Given the description of an element on the screen output the (x, y) to click on. 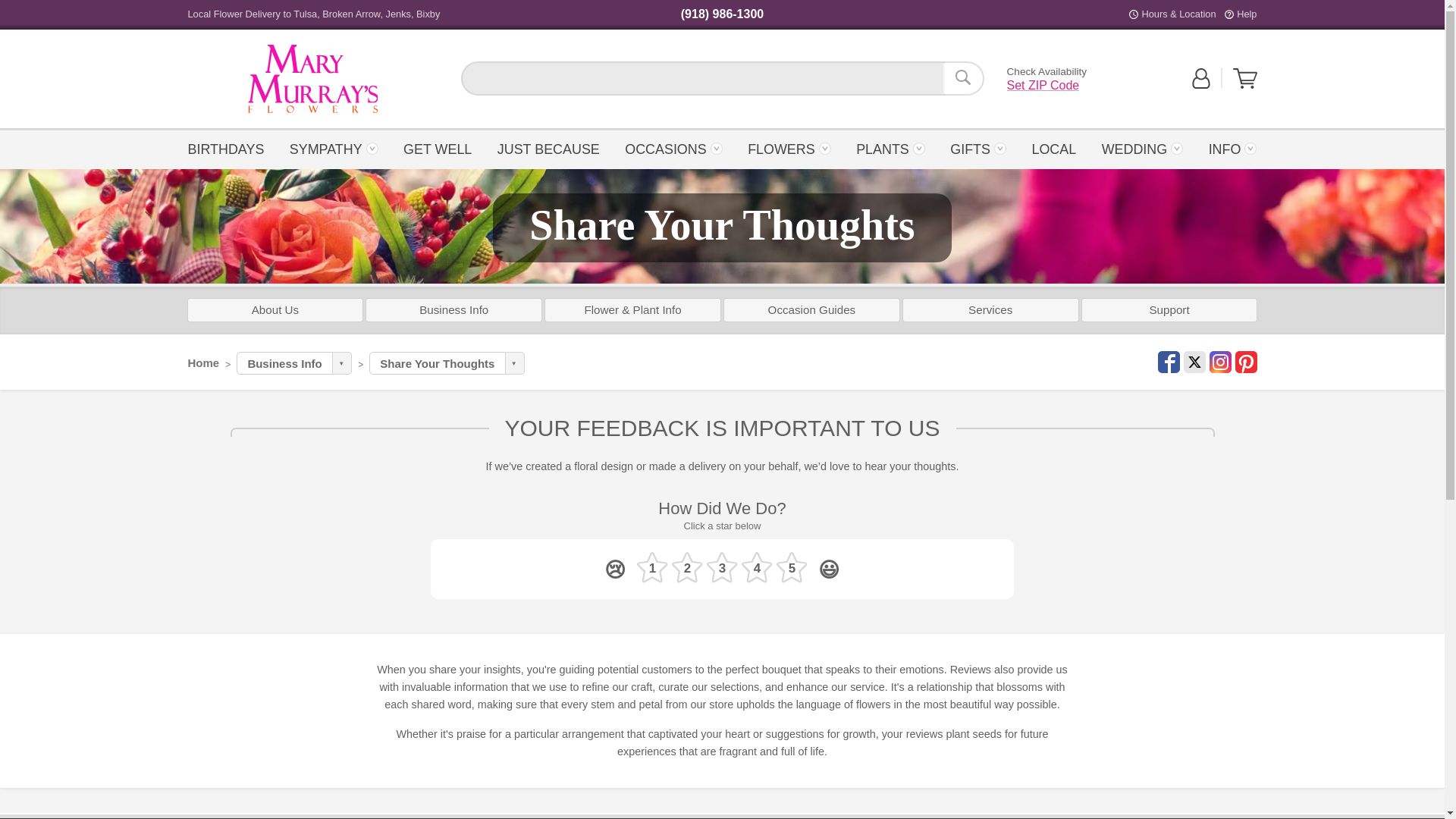
View Your Shopping Cart (1245, 85)
JUST BECAUSE (548, 147)
Set ZIP Code (1043, 85)
Help (1246, 13)
OCCASIONS (672, 147)
SYMPATHY (334, 147)
Back to the Home Page (312, 79)
View Your Shopping Cart (1245, 78)
GET WELL (312, 79)
BIRTHDAYS (437, 147)
Mary Murray's Flowers Logo (230, 147)
Search (312, 79)
